Given the description of an element on the screen output the (x, y) to click on. 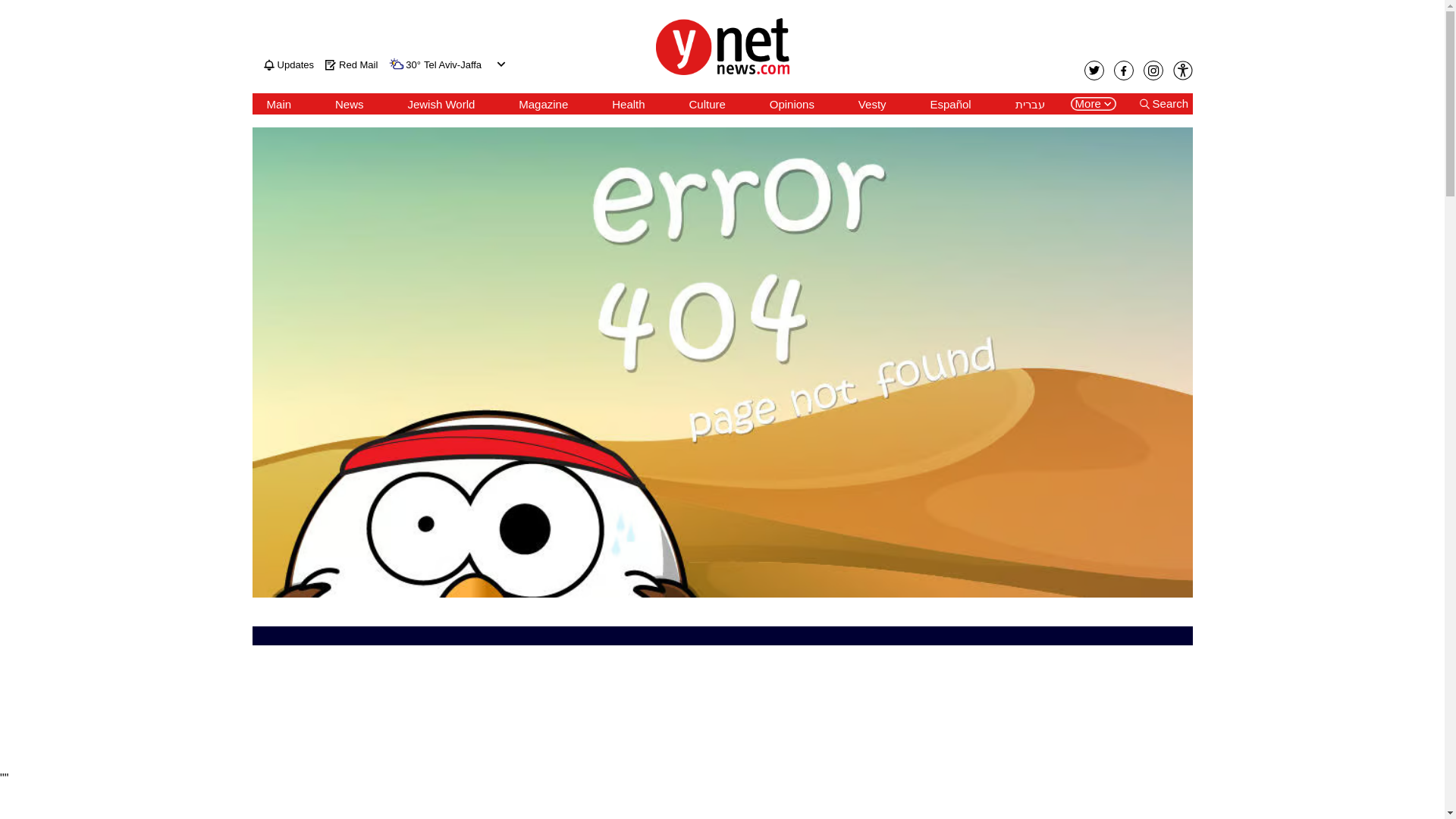
Health (628, 103)
Updates (288, 64)
Culture (706, 103)
Vesty (872, 103)
Magazine (542, 103)
Opinions (791, 103)
News (349, 103)
Main (279, 103)
Jewish World (440, 103)
Red Mail (350, 64)
